Given the description of an element on the screen output the (x, y) to click on. 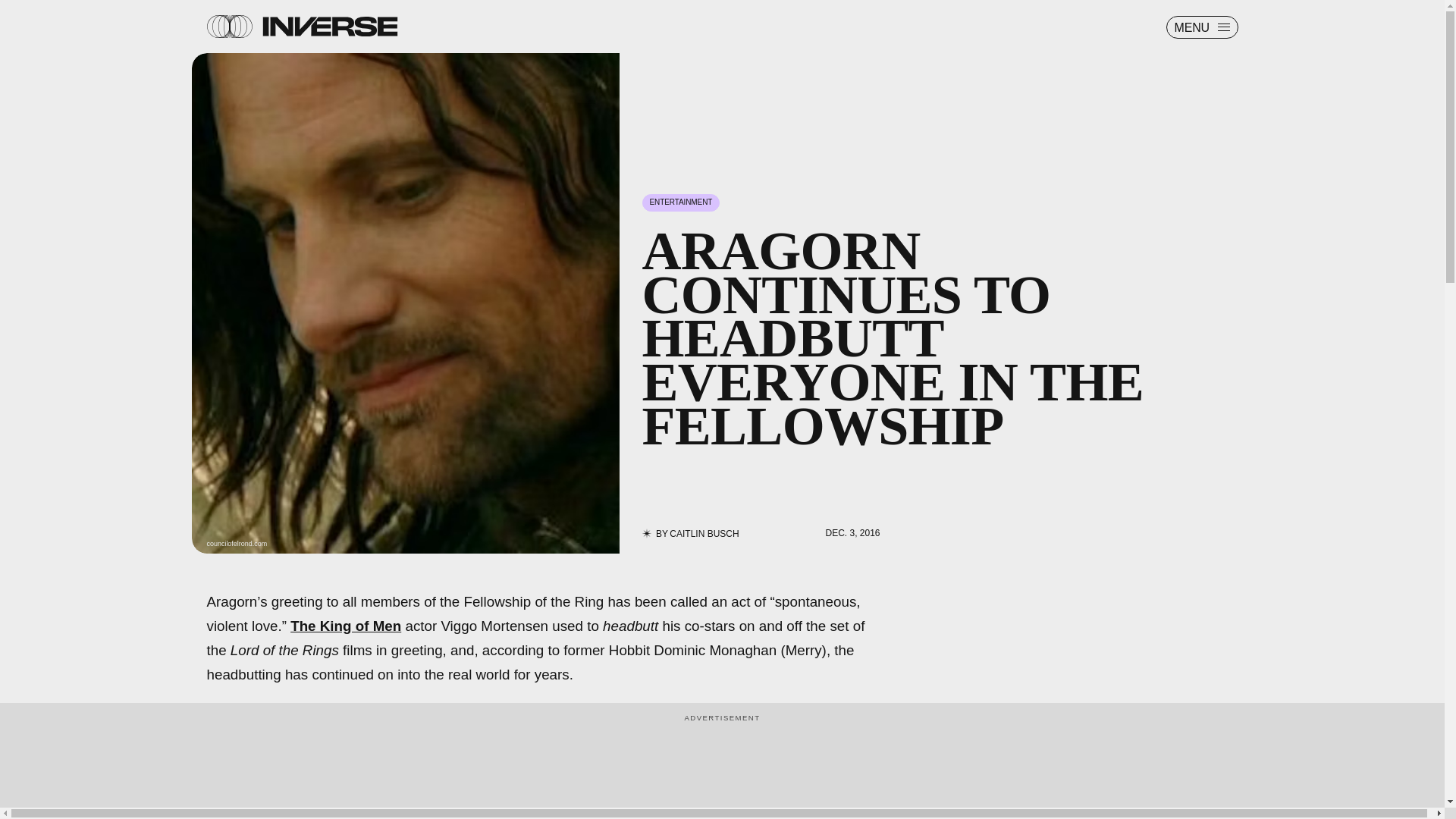
CAITLIN BUSCH (703, 533)
Inverse (328, 26)
The King of Men (345, 625)
